Given the description of an element on the screen output the (x, y) to click on. 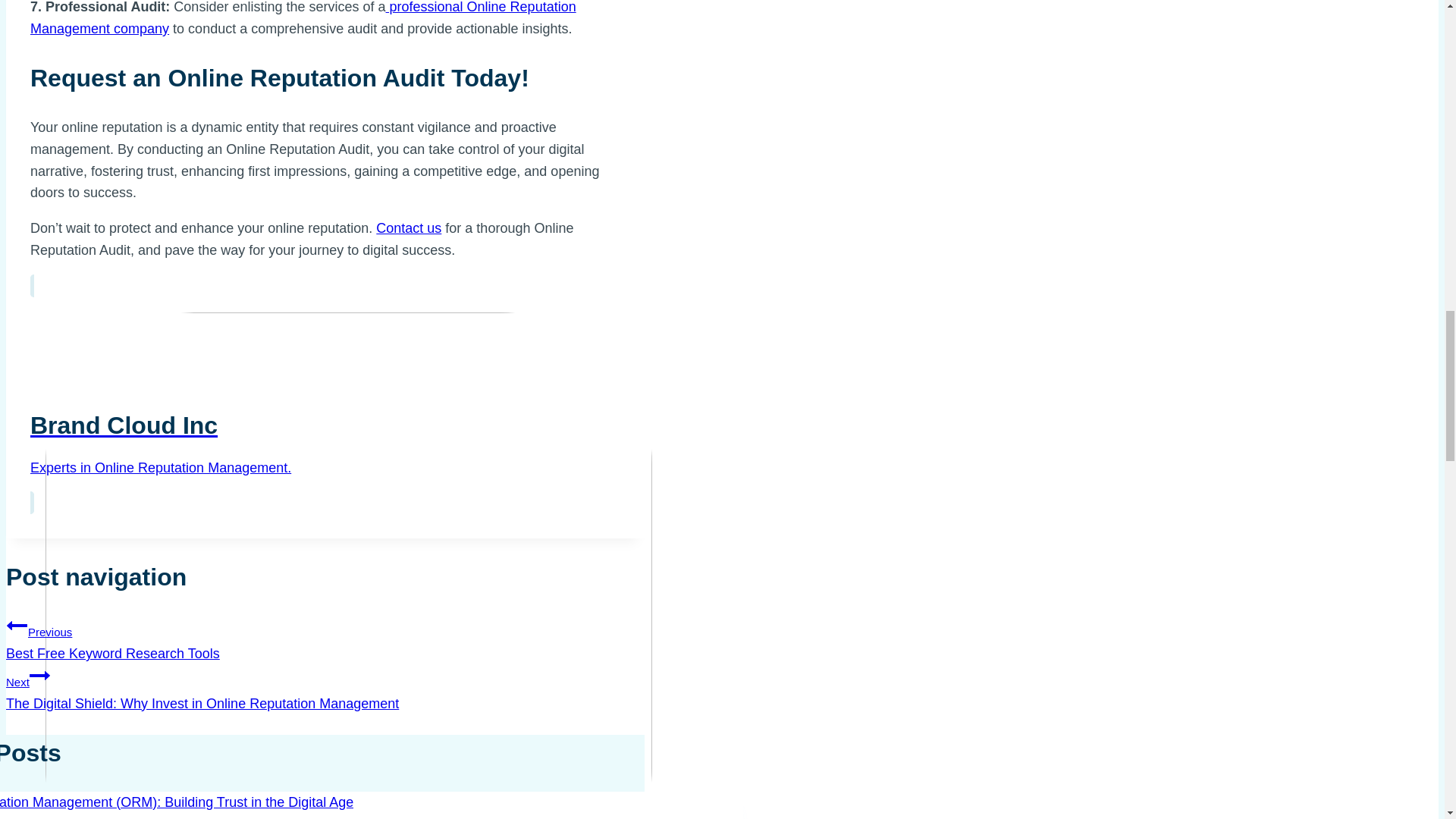
Continue (39, 675)
Contact us (325, 637)
professional Online Reputation Management company (408, 227)
